Given the description of an element on the screen output the (x, y) to click on. 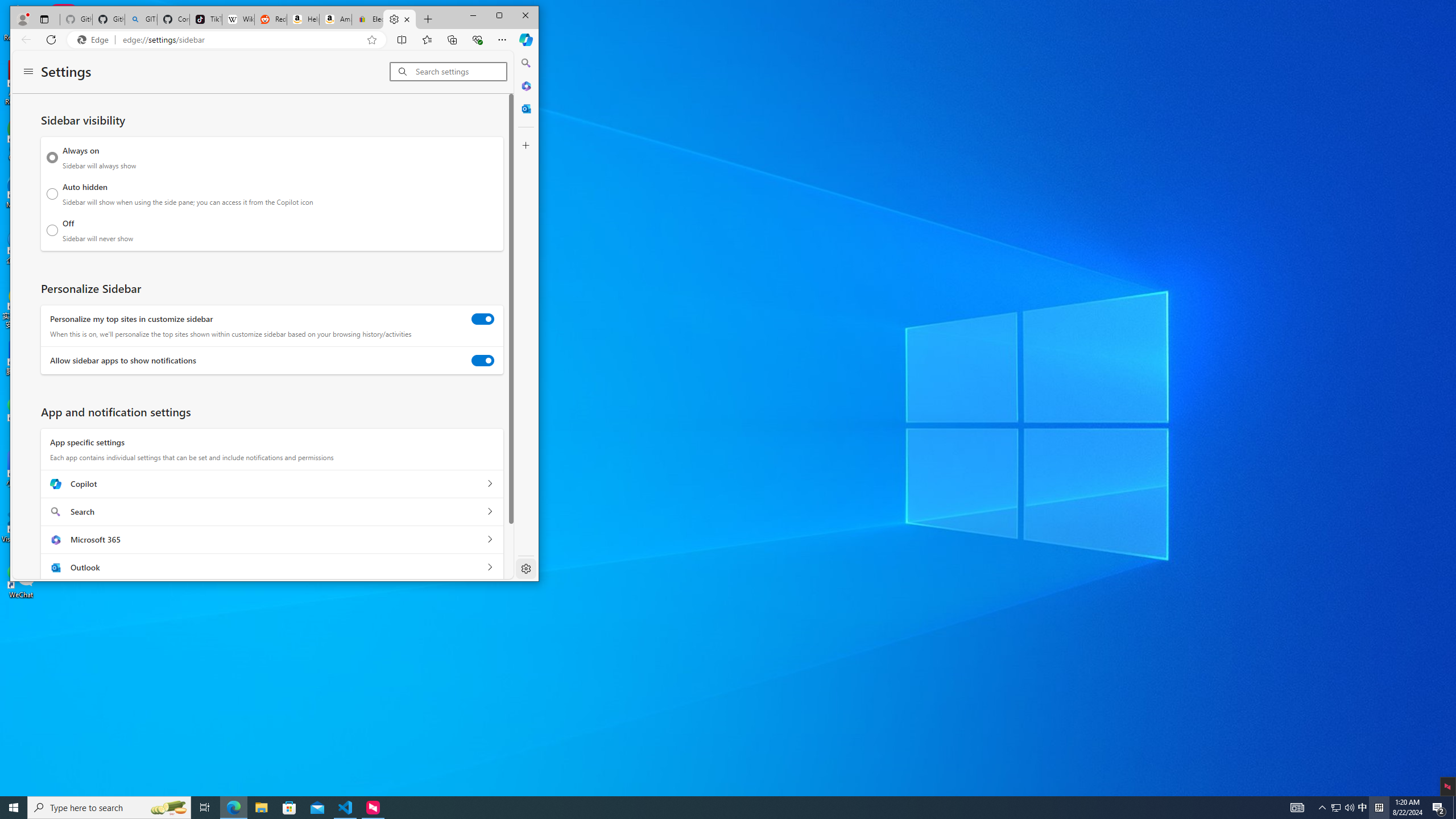
Amazon.com: Deals (335, 19)
Running applications (707, 807)
Always on Sidebar will always show (52, 156)
Settings menu (28, 72)
Microsoft Edge - 1 running window (233, 807)
Action Center, 2 new notifications (1439, 807)
